Given the description of an element on the screen output the (x, y) to click on. 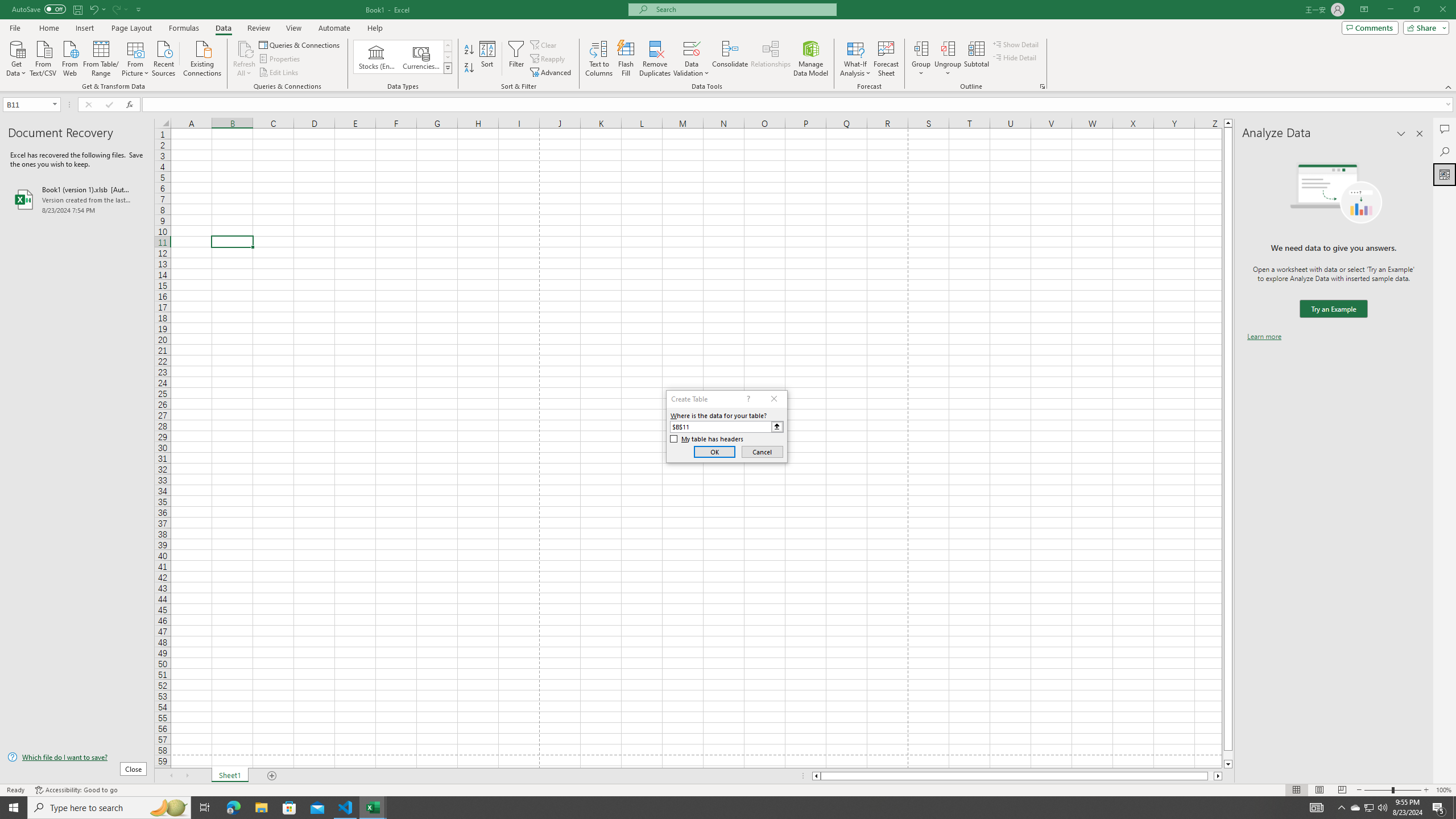
Edit Links (279, 72)
Forecast Sheet (885, 58)
Filter (515, 58)
From Table/Range (100, 57)
Text to Columns... (598, 58)
Show Detail (1016, 44)
